Given the description of an element on the screen output the (x, y) to click on. 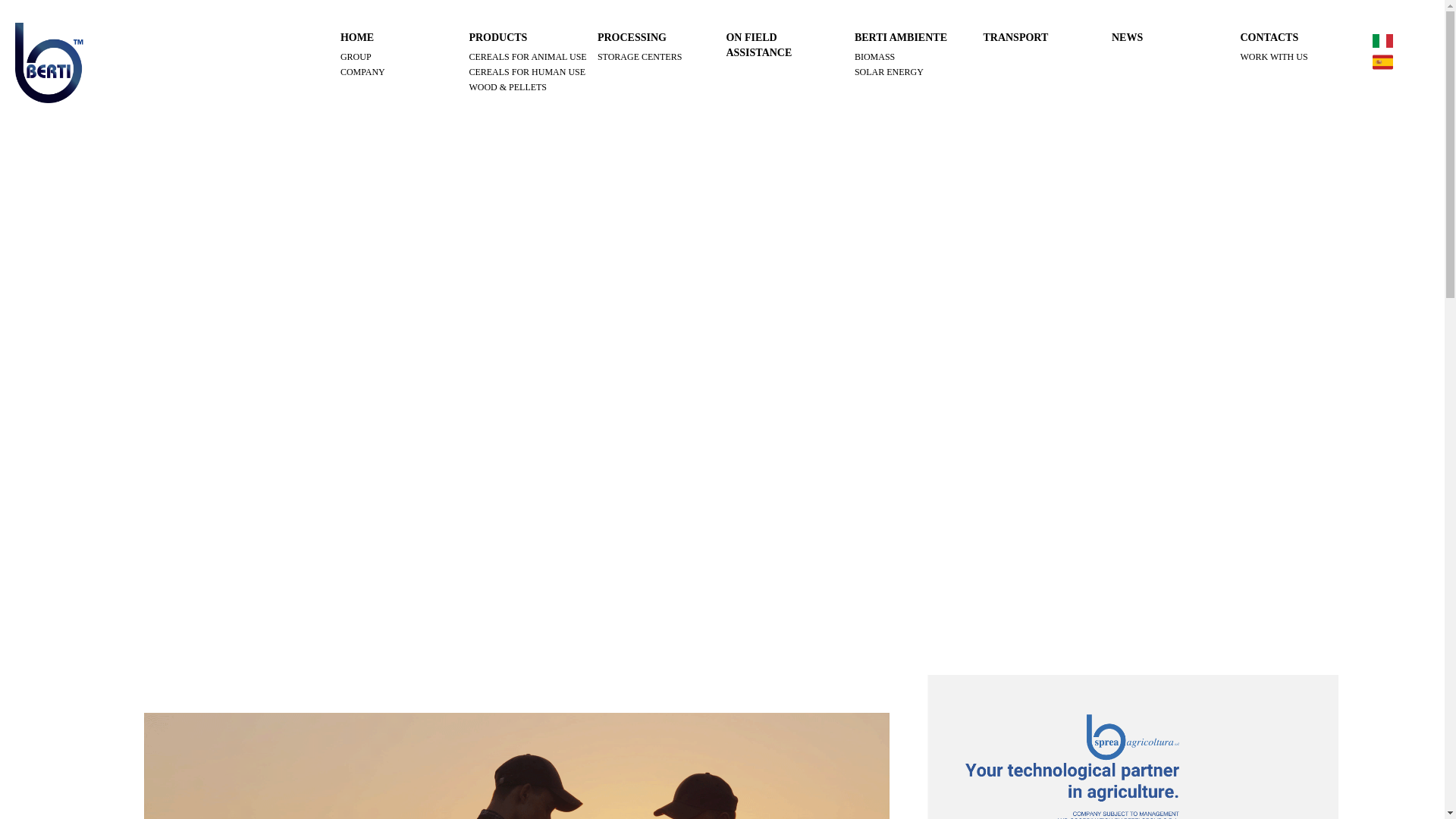
CONTACTS (1269, 37)
SOLAR ENERGY (914, 71)
TRANSPORT (1015, 37)
COMPANY (400, 71)
HOME (357, 37)
ON FIELD ASSISTANCE (778, 45)
CEREALS FOR ANIMAL USE (528, 56)
PROCESSING (631, 37)
STORAGE CENTERS (657, 56)
CEREALS FOR HUMAN USE (528, 71)
